Given the description of an element on the screen output the (x, y) to click on. 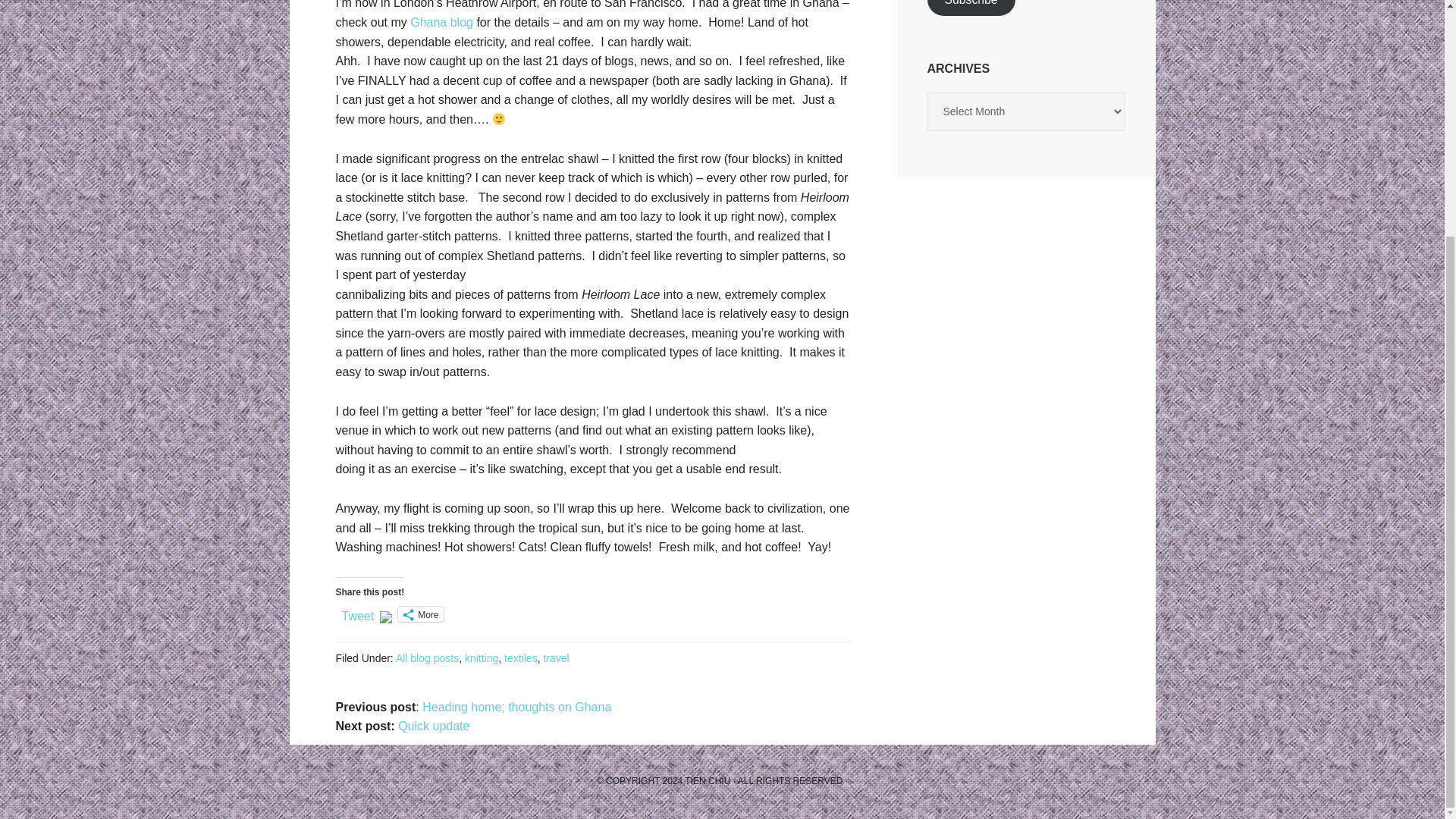
TIEN CHIU (707, 780)
Ghana blog (441, 21)
travel (556, 657)
Quick update (432, 725)
More (419, 613)
Heading home; thoughts on Ghana (516, 707)
All blog posts (427, 657)
knitting (480, 657)
Subscribe (970, 7)
textiles (520, 657)
Tweet (357, 612)
